Given the description of an element on the screen output the (x, y) to click on. 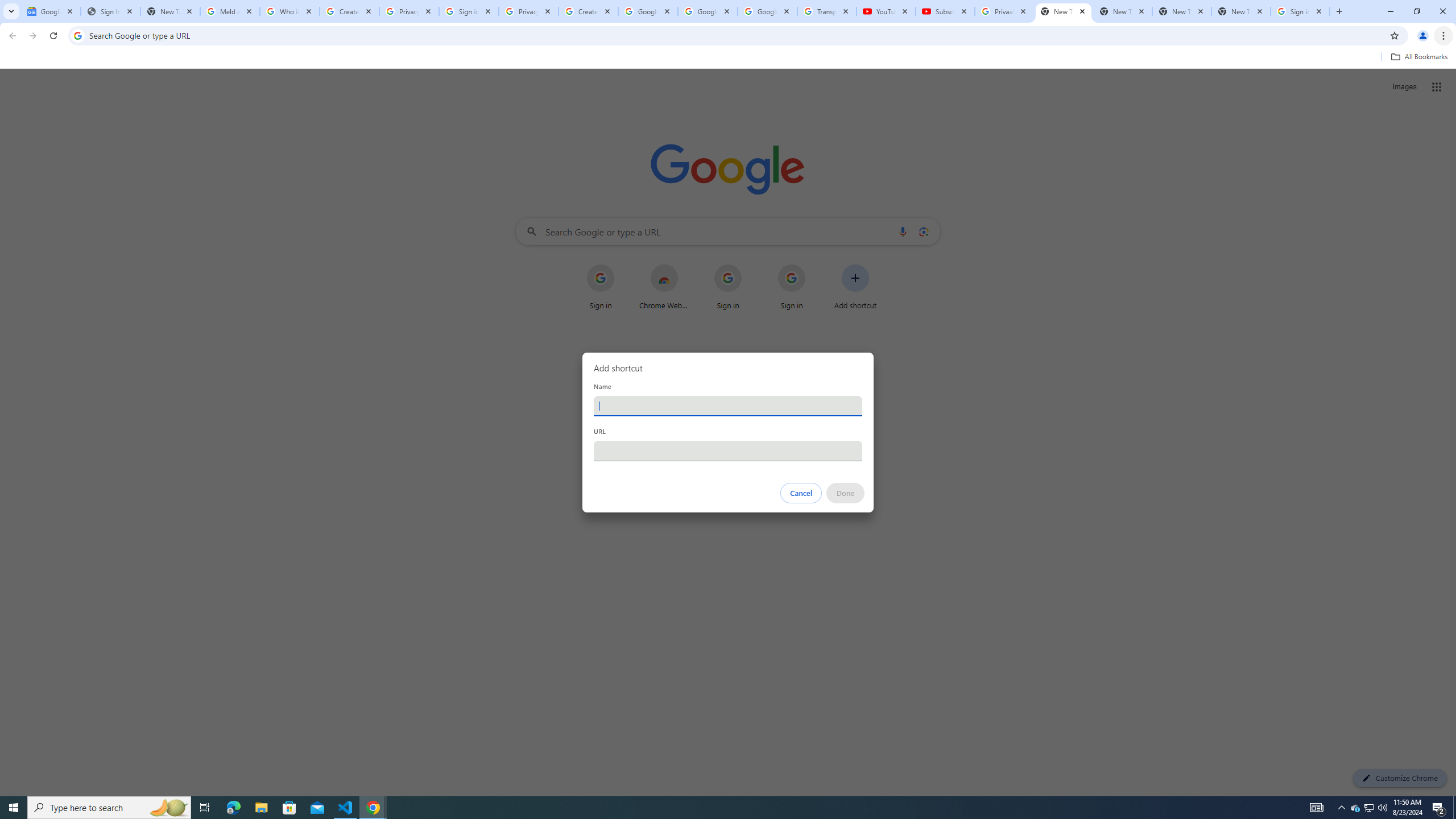
Done (845, 493)
Google News (50, 11)
Sign in - Google Accounts (1300, 11)
New Tab (1241, 11)
Subscriptions - YouTube (944, 11)
Create your Google Account (588, 11)
